Given the description of an element on the screen output the (x, y) to click on. 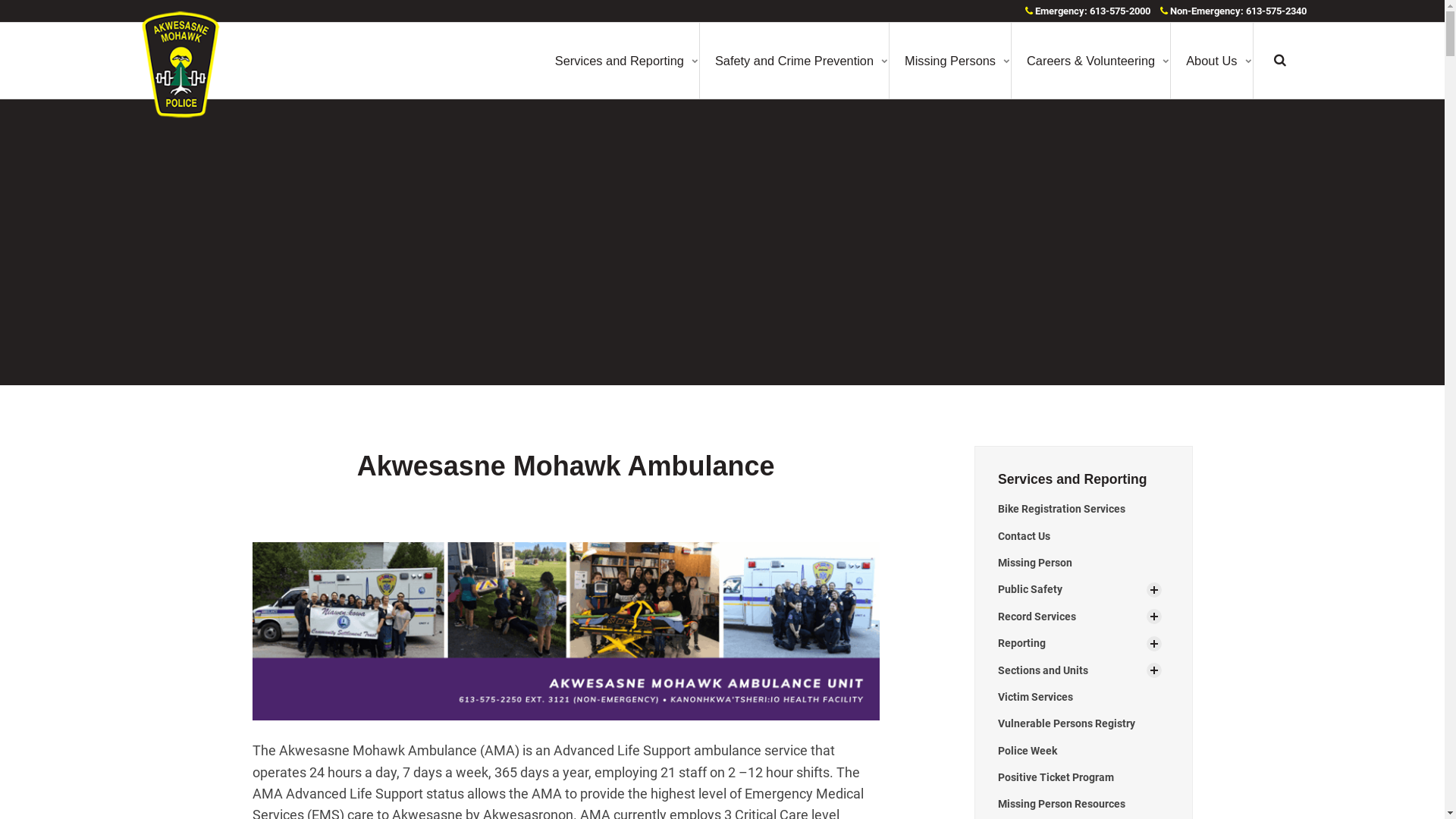
Missing Person Resources Element type: text (1083, 803)
Police Week Element type: text (1083, 750)
Services and Reporting Element type: text (1072, 478)
Search Element type: hover (1278, 60)
Non-Emergency: 613-575-2340 Element type: text (1233, 11)
Akwesasne Mohawk Police Service Element type: hover (179, 64)
Record Services Element type: text (1071, 616)
Missing Persons Element type: text (949, 60)
Safety and Crime Prevention Element type: text (793, 60)
Victim Services Element type: text (1083, 697)
About Us Element type: text (1211, 60)
Public Safety Element type: text (1071, 589)
Contact Us Element type: text (1083, 536)
Positive Ticket Program Element type: text (1083, 777)
Vulnerable Persons Registry Element type: text (1083, 723)
Services and Reporting Element type: text (619, 60)
Reporting Element type: text (1071, 643)
Careers & Volunteering Element type: text (1090, 60)
Emergency: 613-575-2000 Element type: text (1087, 11)
Missing Person Element type: text (1083, 562)
Sections and Units Element type: text (1071, 670)
Bike Registration Services Element type: text (1083, 508)
